Given the description of an element on the screen output the (x, y) to click on. 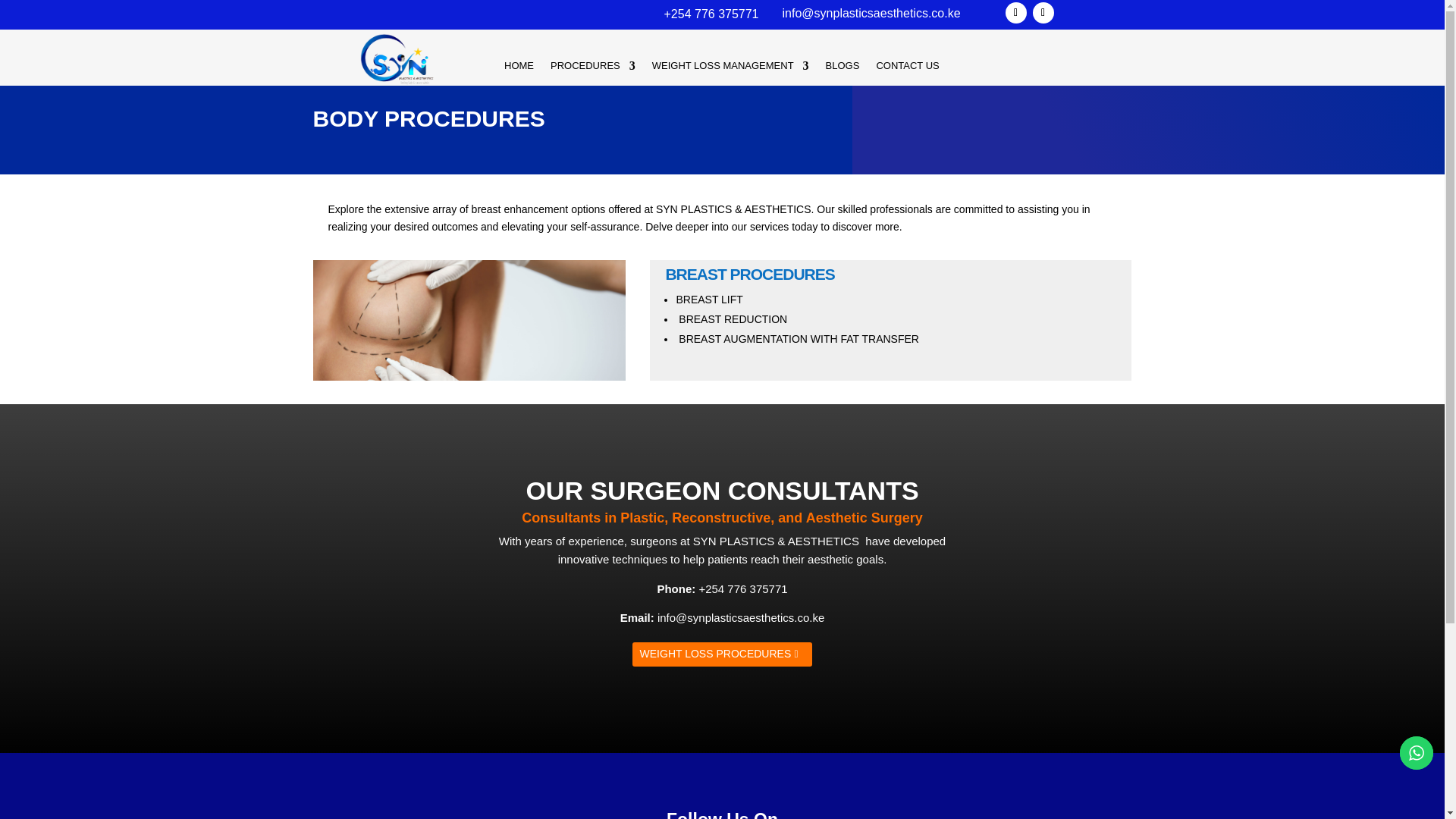
b (395, 59)
Follow on Facebook (1016, 12)
CONTACT US (907, 68)
BLOGS (842, 68)
PROCEDURES (592, 68)
HOME (518, 68)
Follow on Instagram (1043, 12)
WEIGHT LOSS MANAGEMENT (730, 68)
